Given the description of an element on the screen output the (x, y) to click on. 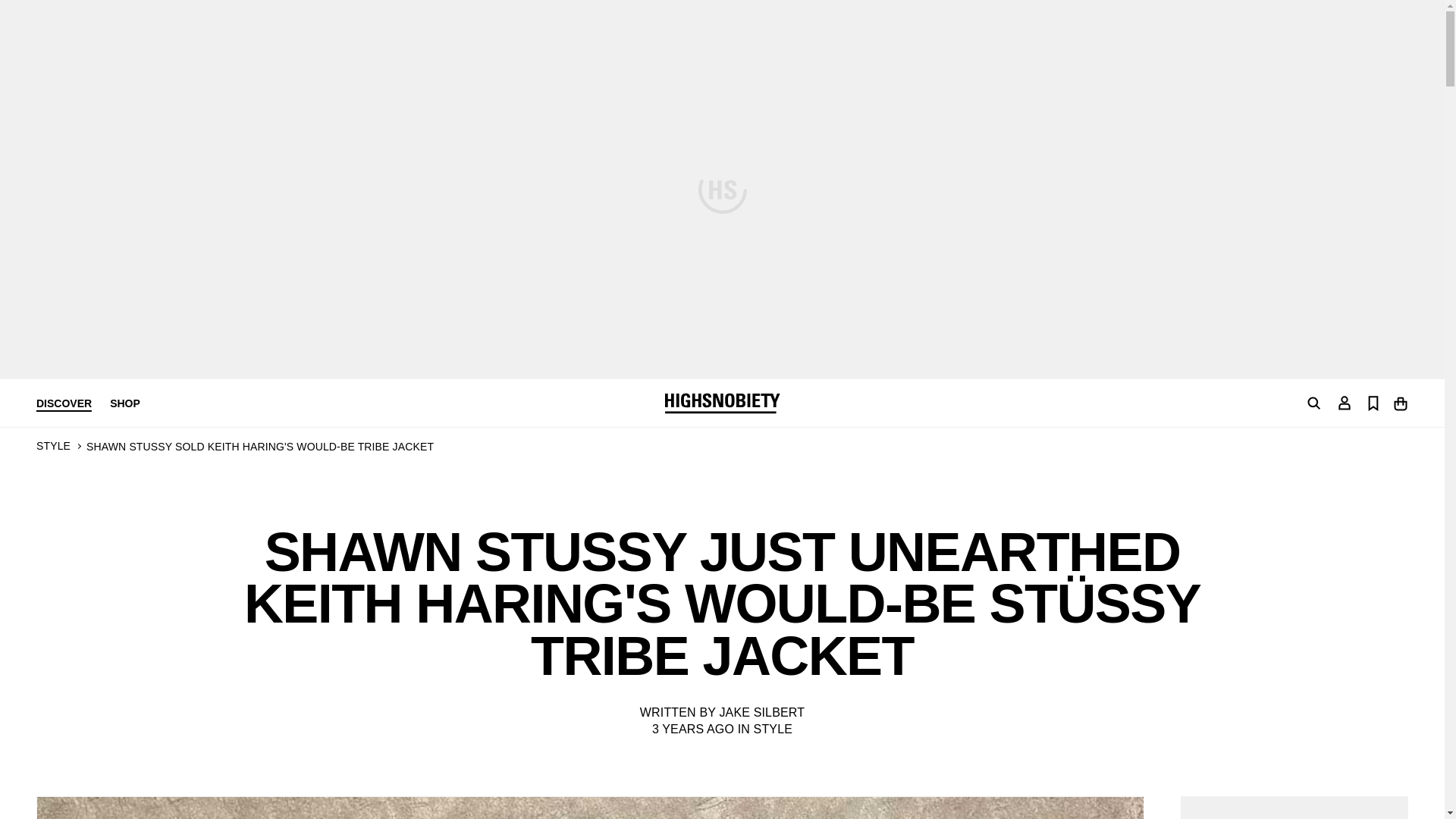
Go To Account (1344, 402)
3rd party ad content (1293, 807)
Go To Shopping Cart (1400, 402)
Go To Search (1314, 403)
Highsnobiety (720, 403)
Go To Saved (1372, 402)
